Given the description of an element on the screen output the (x, y) to click on. 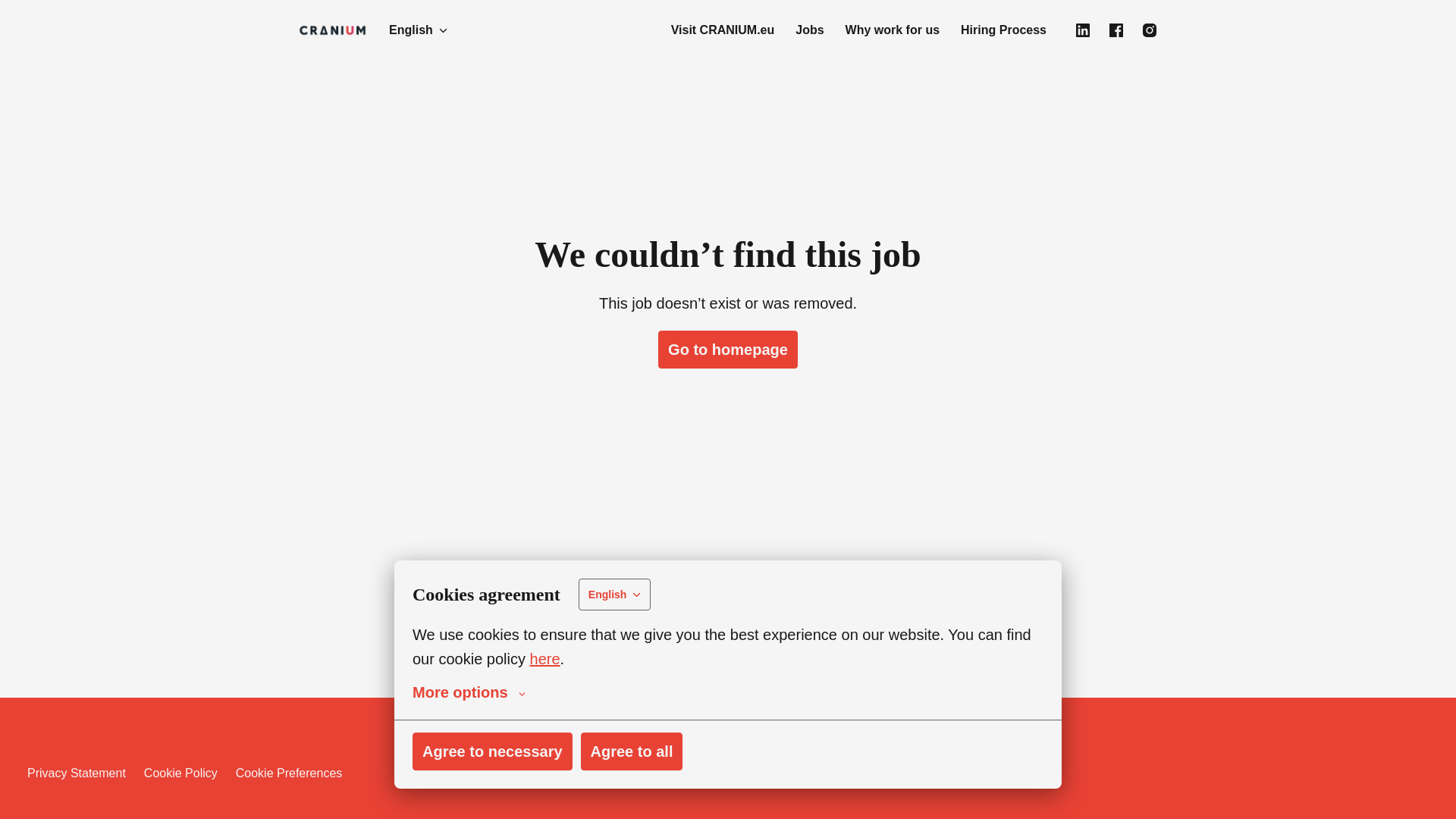
Jobs (809, 30)
instagram (1149, 30)
Cookie Policy (181, 773)
Why work for us (892, 30)
Go to homepage (727, 349)
Cookie Preferences (289, 773)
Agree to necessary (492, 765)
Homepage (332, 30)
linkedin (1082, 30)
here (544, 673)
facebook (1115, 30)
Agree to all (631, 765)
Privacy Statement (76, 773)
English (418, 30)
More options (468, 707)
